Given the description of an element on the screen output the (x, y) to click on. 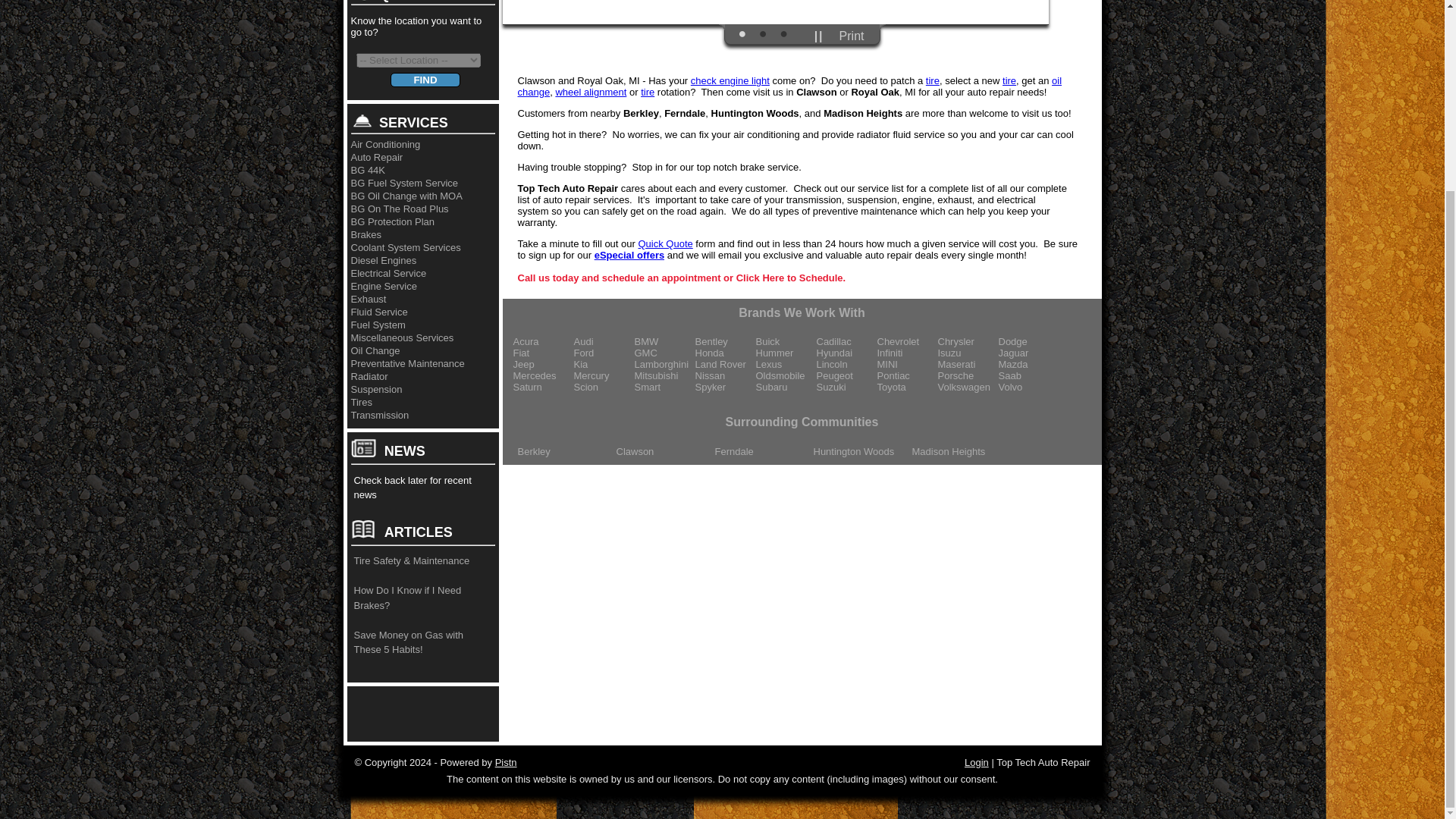
Bentley (724, 341)
wheel alignment (590, 91)
BMW (663, 341)
tire (932, 80)
Cadillac (845, 341)
Fiat (542, 352)
Infiniti (906, 352)
oil change (788, 86)
Isuzu (967, 352)
Print (852, 36)
Ford (603, 352)
GMC (663, 352)
Find (425, 79)
Hyundai (845, 352)
Quick Quote (665, 243)
